Given the description of an element on the screen output the (x, y) to click on. 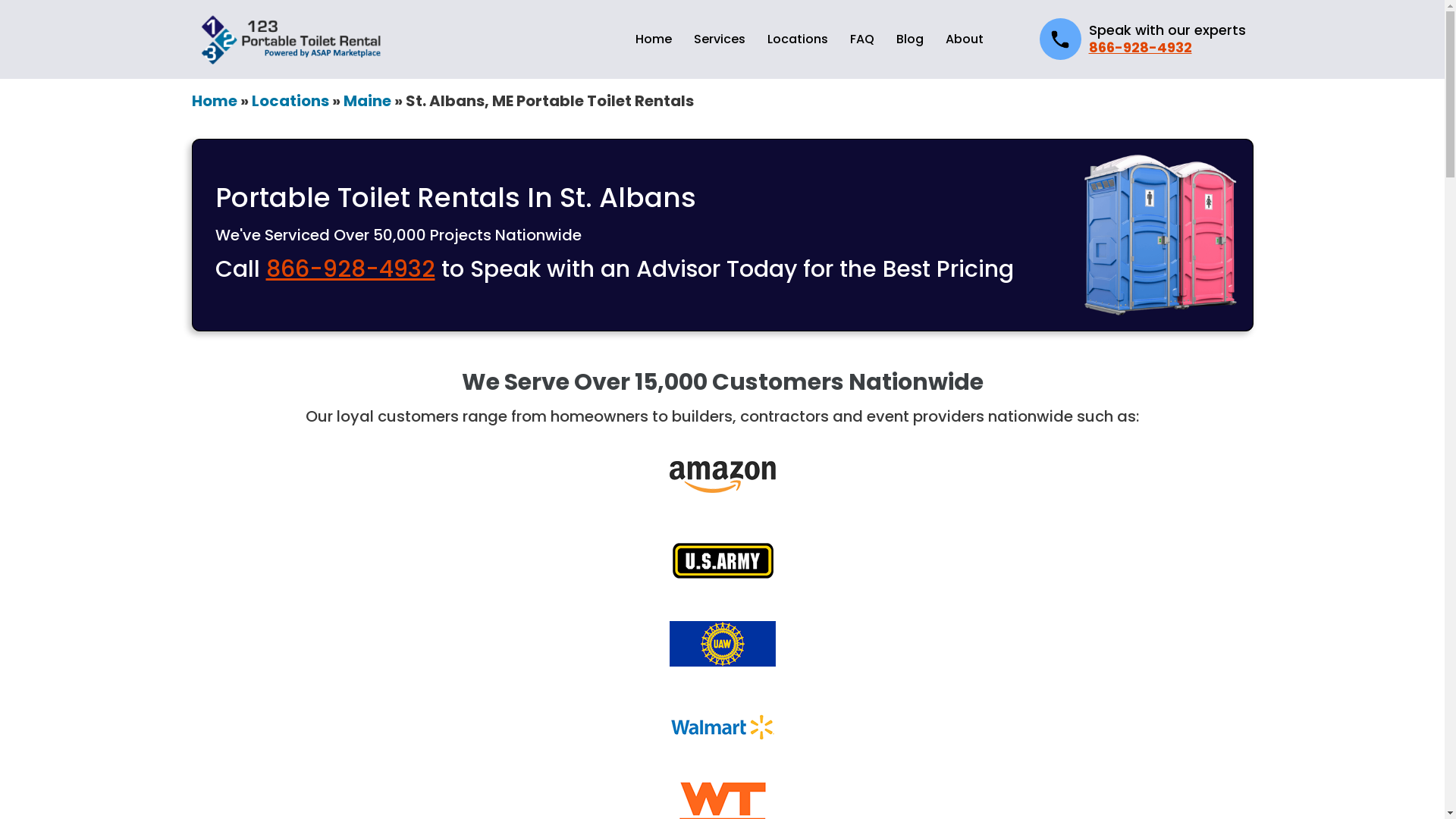
Locations Element type: text (797, 39)
Home Element type: text (213, 100)
About Element type: text (963, 39)
Blog Element type: text (909, 39)
FAQ Element type: text (861, 39)
866-928-4932 Element type: text (1140, 46)
Services Element type: text (718, 39)
123ptr-powered-by-asapmp-logo-300x90 Element type: hover (291, 39)
Maine Element type: text (366, 100)
Home Element type: text (653, 39)
Locations Element type: text (290, 100)
866-928-4932 Element type: text (349, 269)
